Given the description of an element on the screen output the (x, y) to click on. 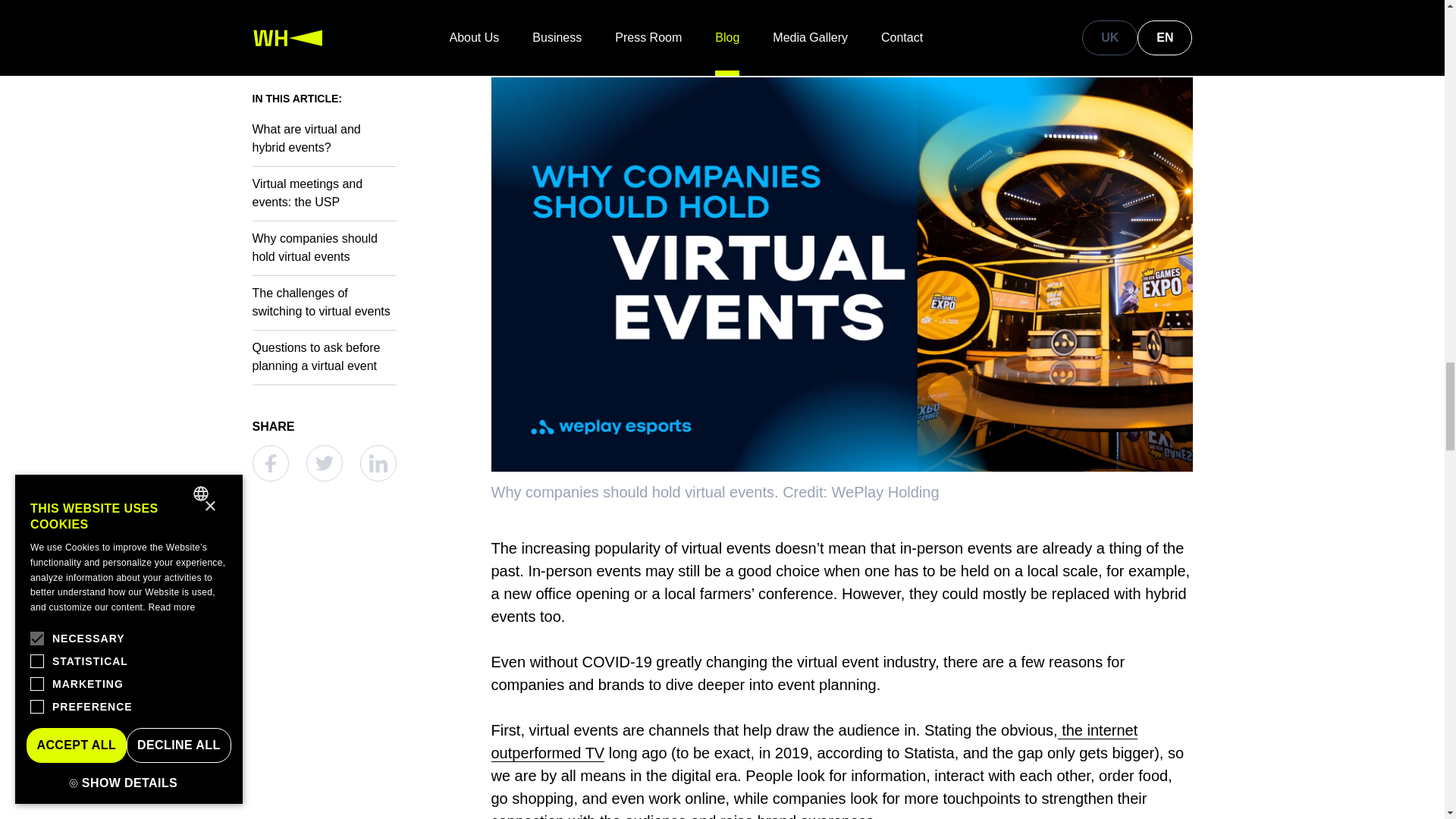
Why companies should hold virtual events (842, 22)
the internet outperformed TV (815, 741)
